Given the description of an element on the screen output the (x, y) to click on. 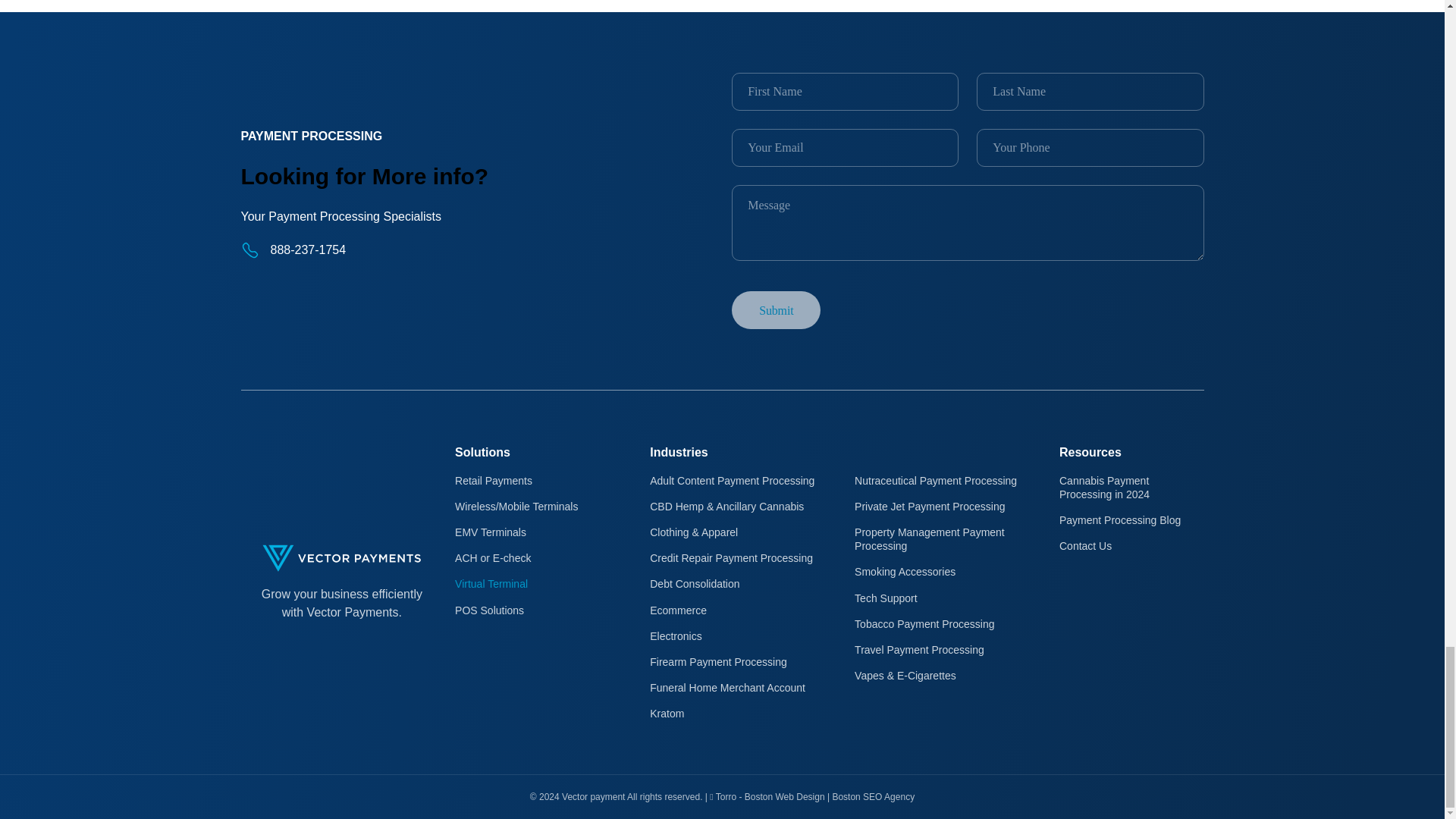
Boston SEO Agency (872, 796)
Boston Web Design (784, 796)
Submit (776, 310)
